Given the description of an element on the screen output the (x, y) to click on. 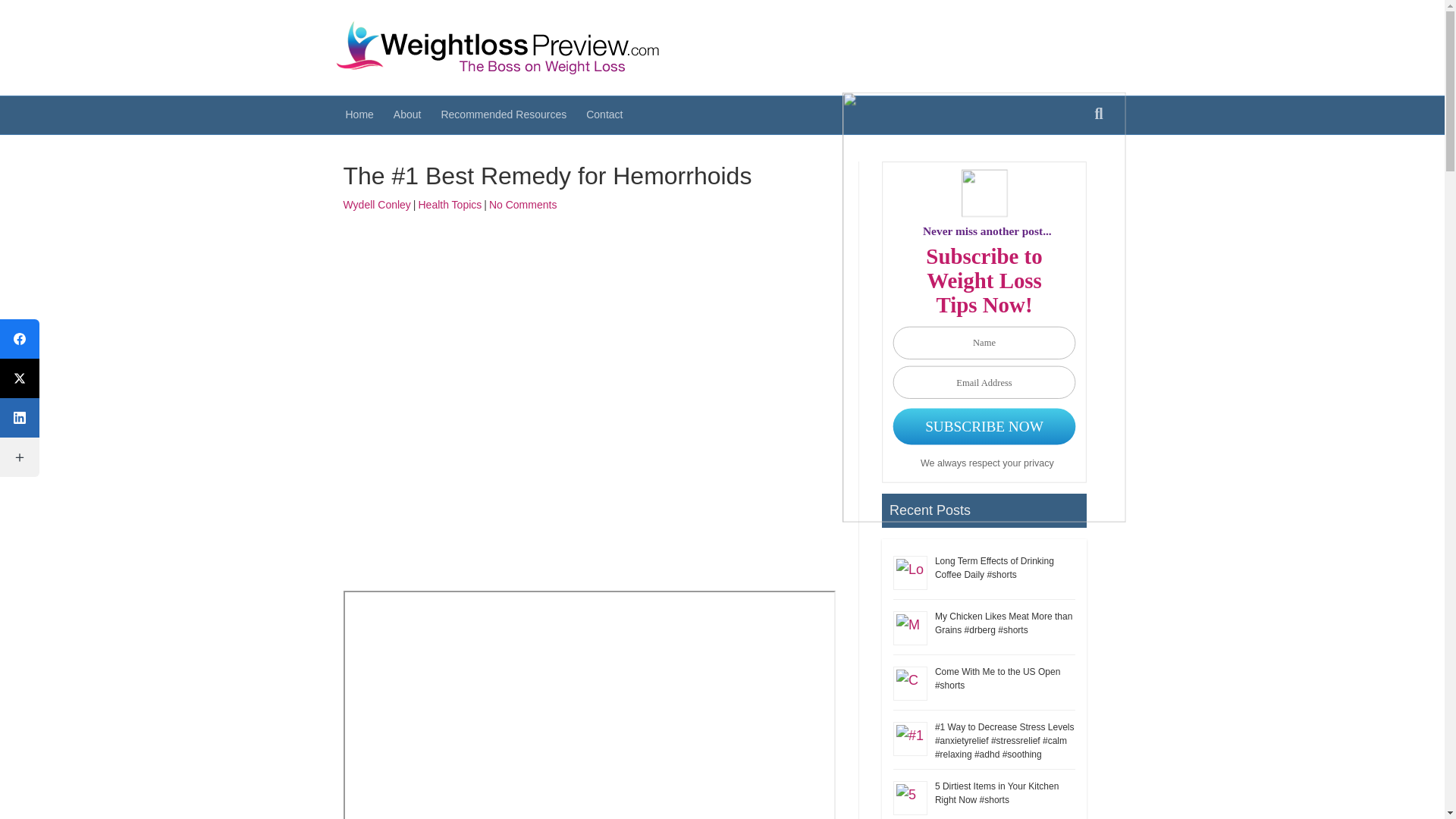
SUBSCRIBE NOW (986, 426)
Contact (603, 115)
Home (358, 115)
Recommended Resources (503, 115)
Wydell Conley (376, 204)
No Comments (522, 204)
Health Topics (450, 204)
About (407, 115)
